Given the description of an element on the screen output the (x, y) to click on. 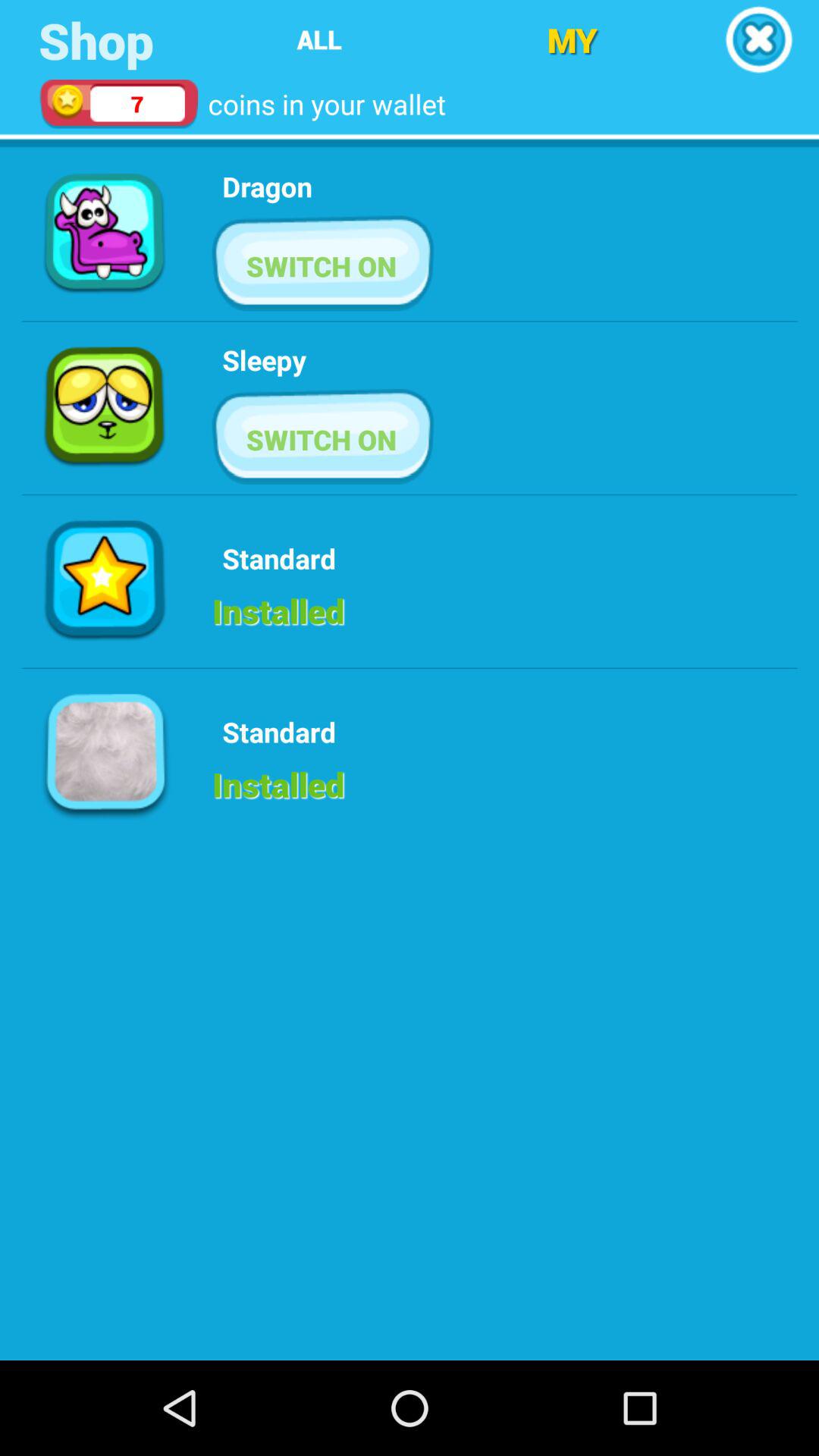
turn off item above switch on button (264, 360)
